Given the description of an element on the screen output the (x, y) to click on. 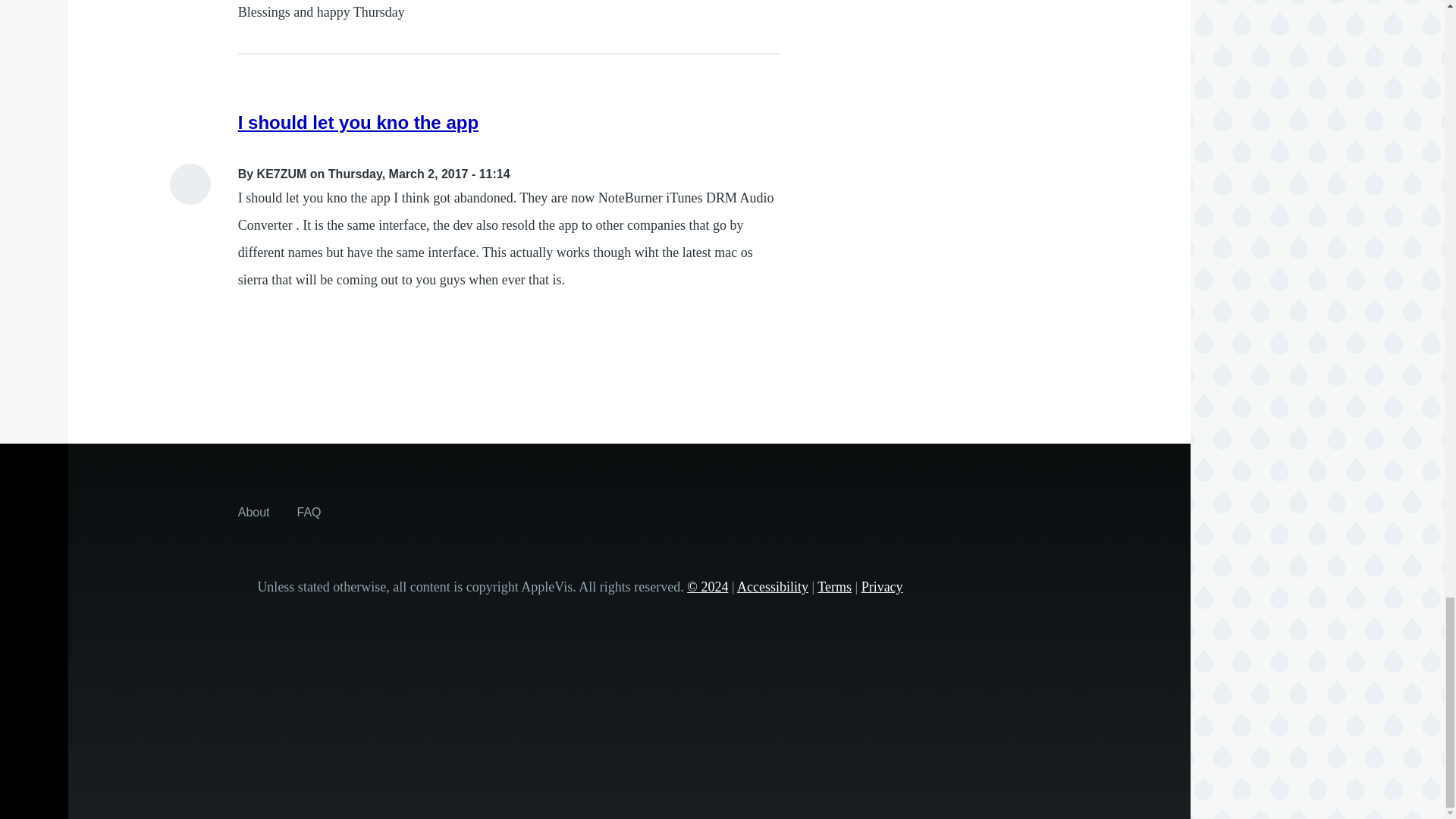
Accessibility (772, 586)
About (253, 511)
About (253, 511)
I should let you kno the app (358, 122)
